Given the description of an element on the screen output the (x, y) to click on. 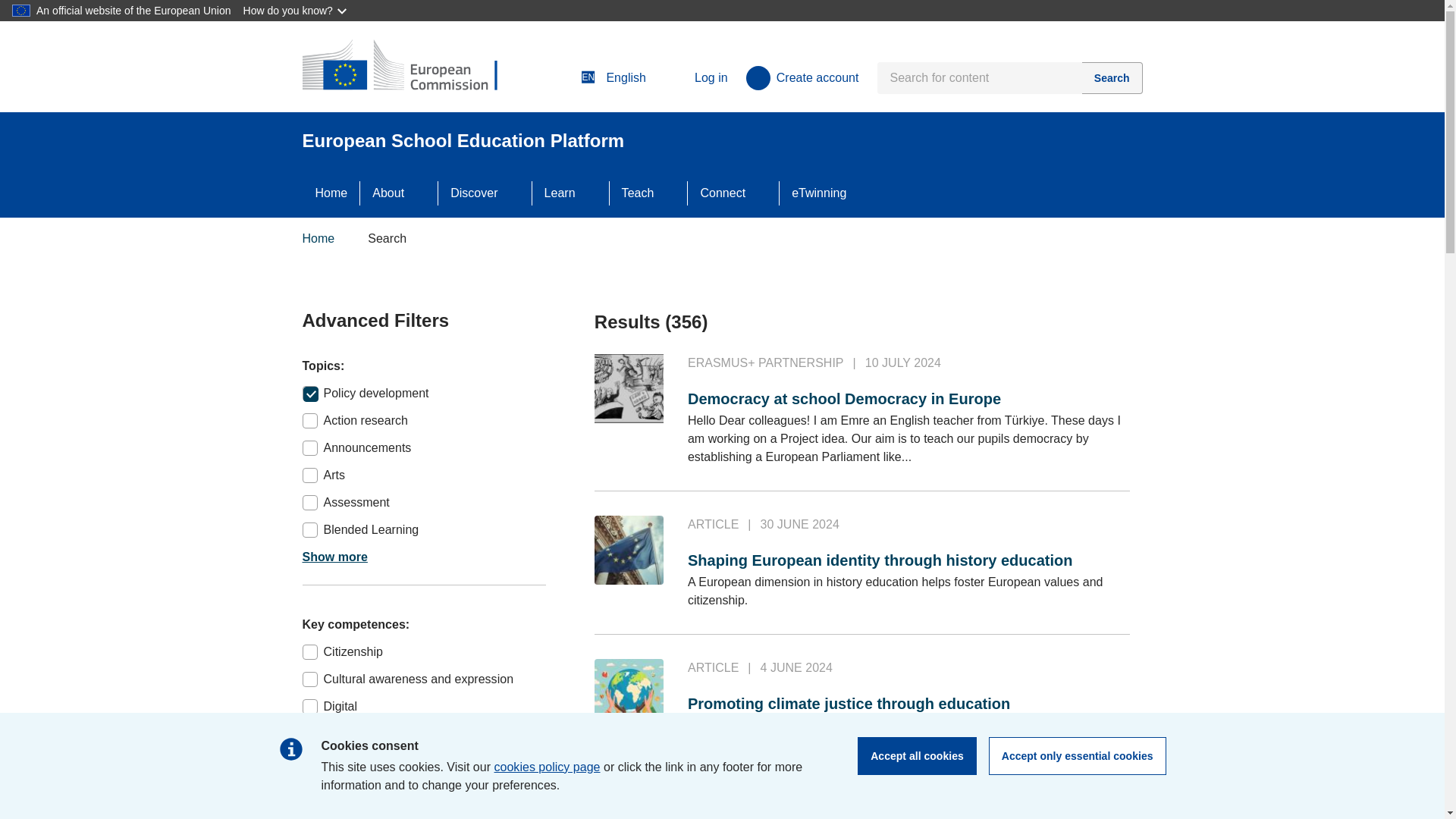
Discover (473, 192)
cookies policy page (547, 766)
How do you know? (295, 10)
Teach (638, 192)
Create account (802, 78)
Skip to main content (5, 6)
European School Education Platform (411, 66)
Log in (695, 78)
